Given the description of an element on the screen output the (x, y) to click on. 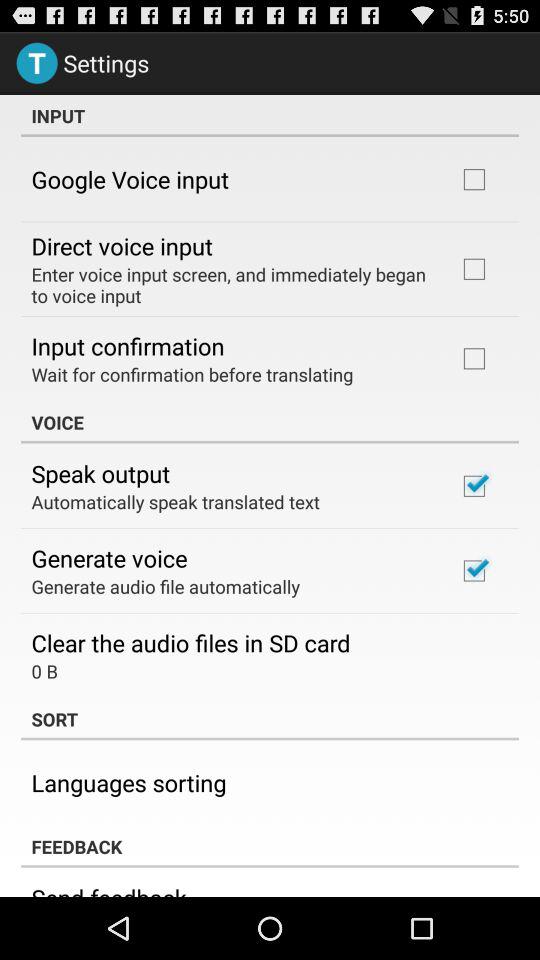
press icon below the clear the audio app (44, 670)
